Given the description of an element on the screen output the (x, y) to click on. 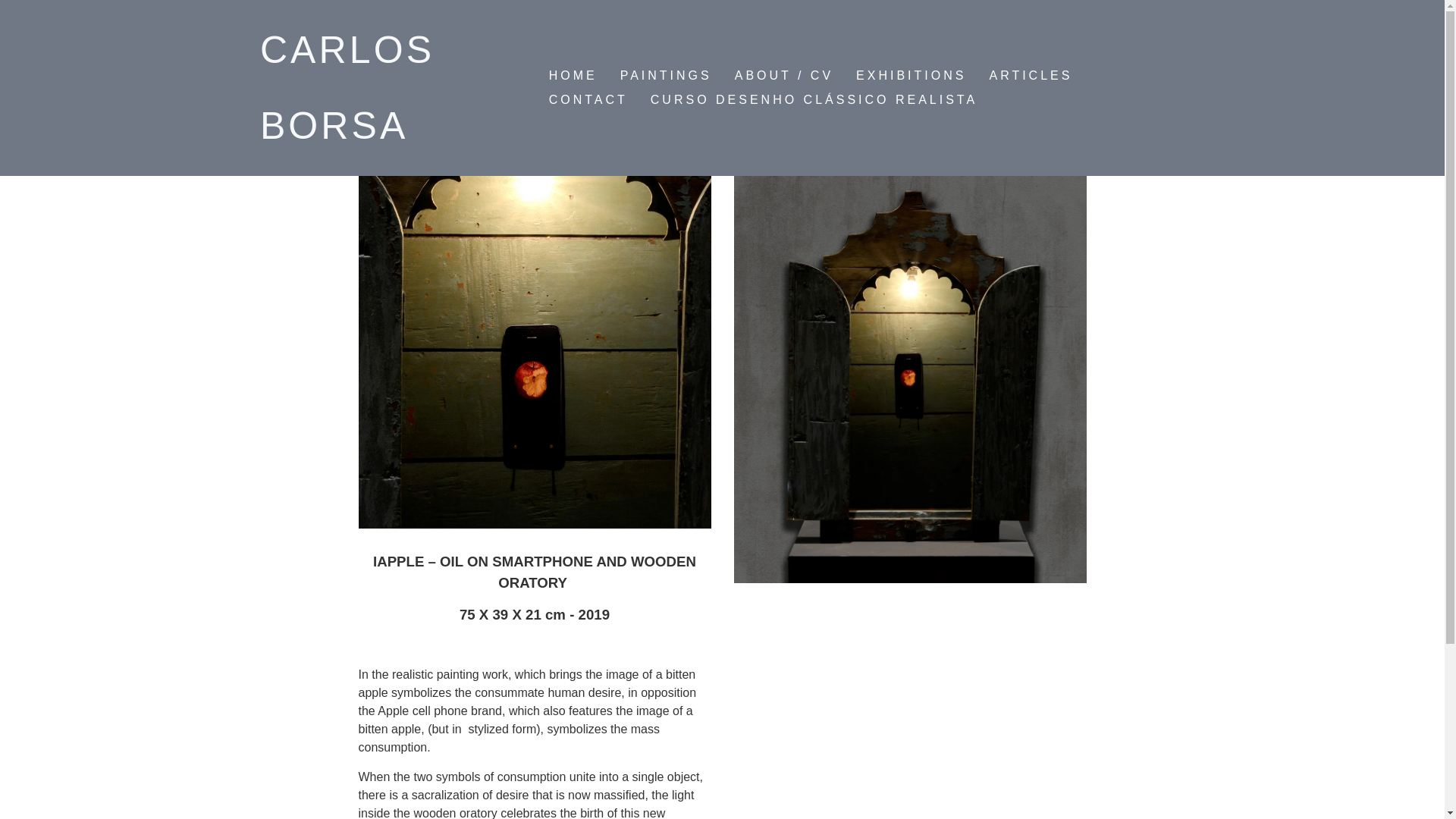
CARLOS BORSA (346, 87)
Inicial (346, 87)
PAINTINGS (665, 75)
ARTICLES (1029, 75)
CONTACT (588, 99)
HOME (572, 75)
EXHIBITIONS (910, 75)
